Given the description of an element on the screen output the (x, y) to click on. 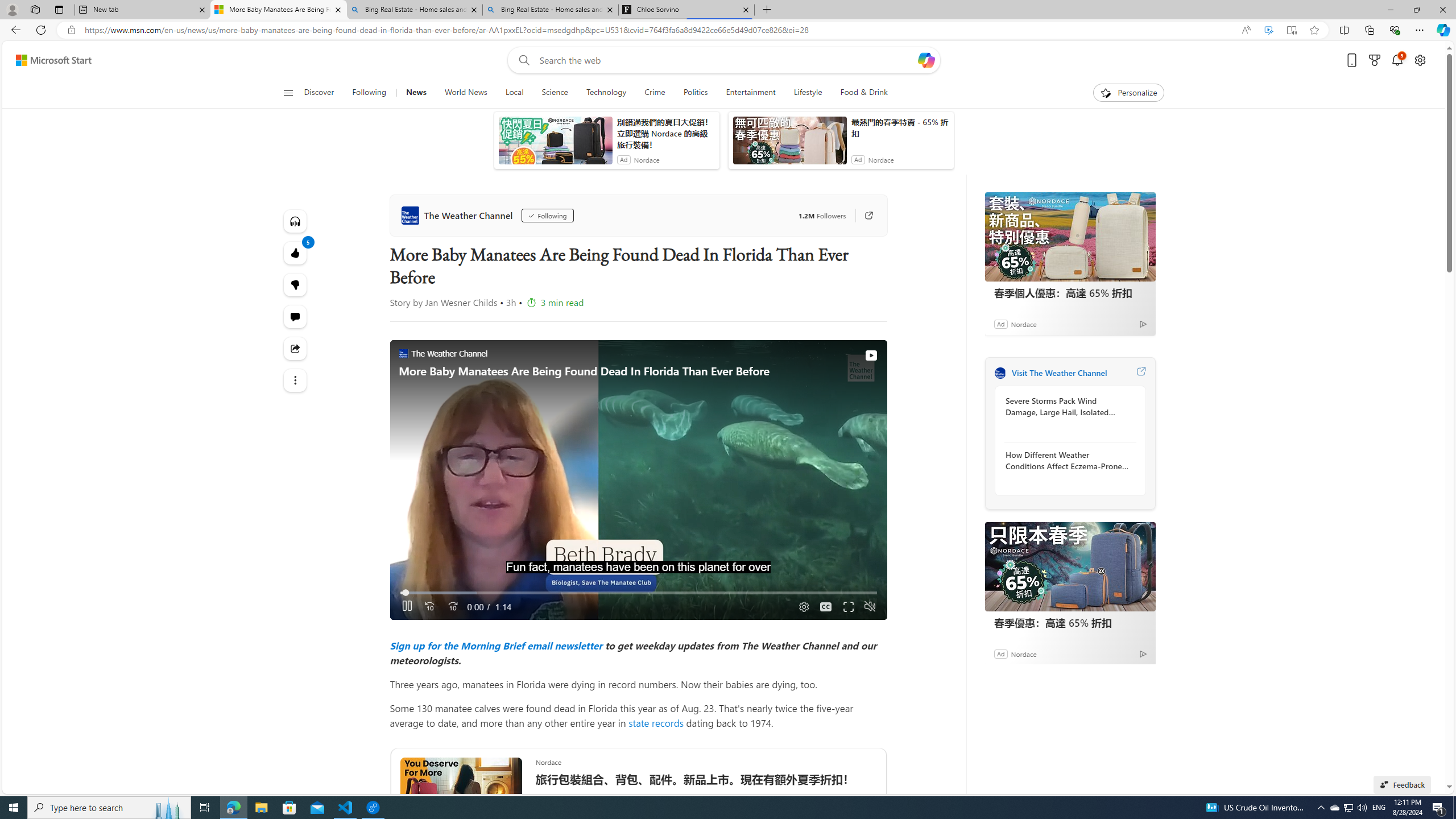
Feedback (1402, 784)
state records (656, 721)
Share this story (295, 348)
The Weather Channel (458, 215)
Discover (319, 92)
Following (370, 92)
Web search (520, 60)
App bar (728, 29)
Politics (694, 92)
5 Like (295, 252)
Politics (695, 92)
